Given the description of an element on the screen output the (x, y) to click on. 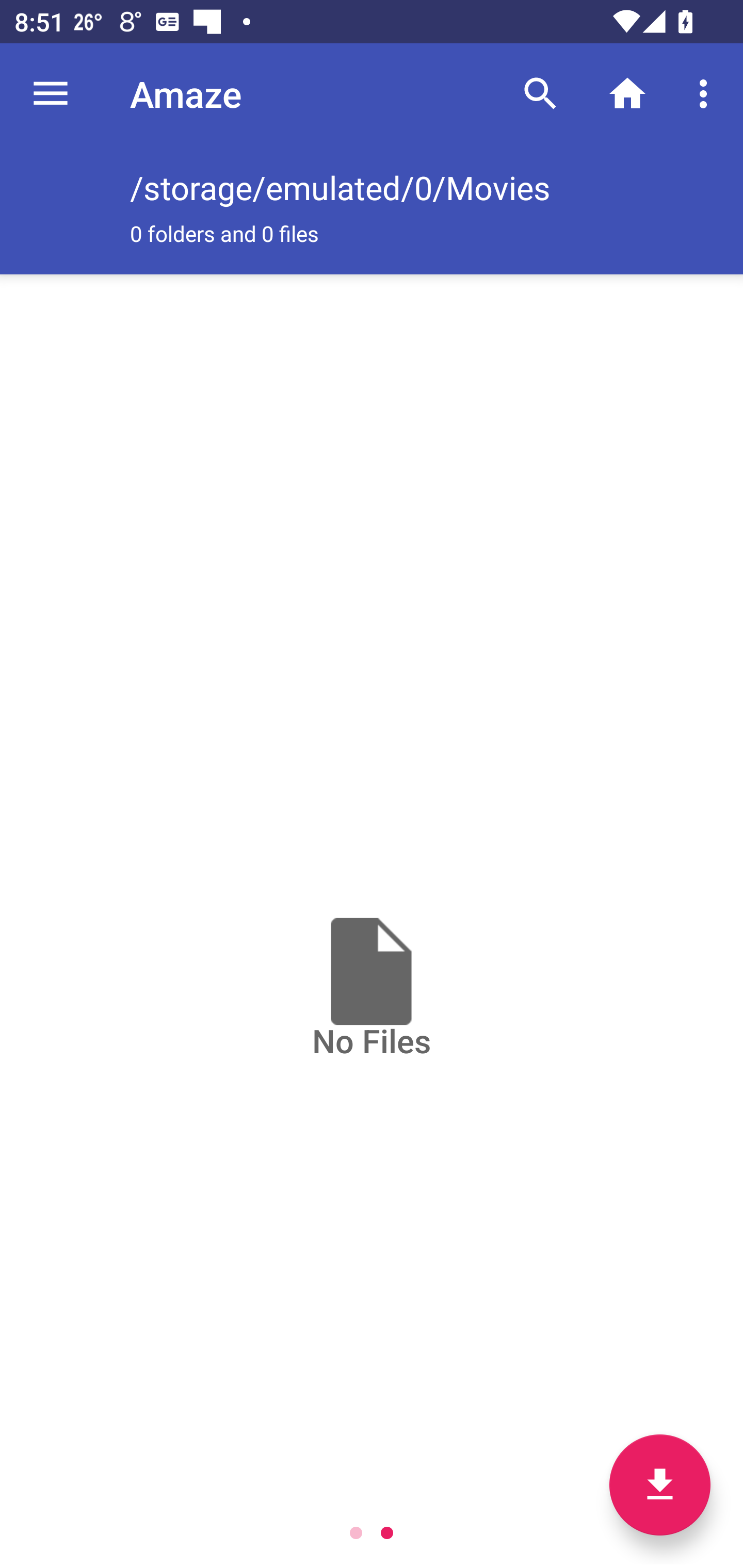
Navigate up (50, 93)
Search (540, 93)
Home (626, 93)
More options (706, 93)
